Given the description of an element on the screen output the (x, y) to click on. 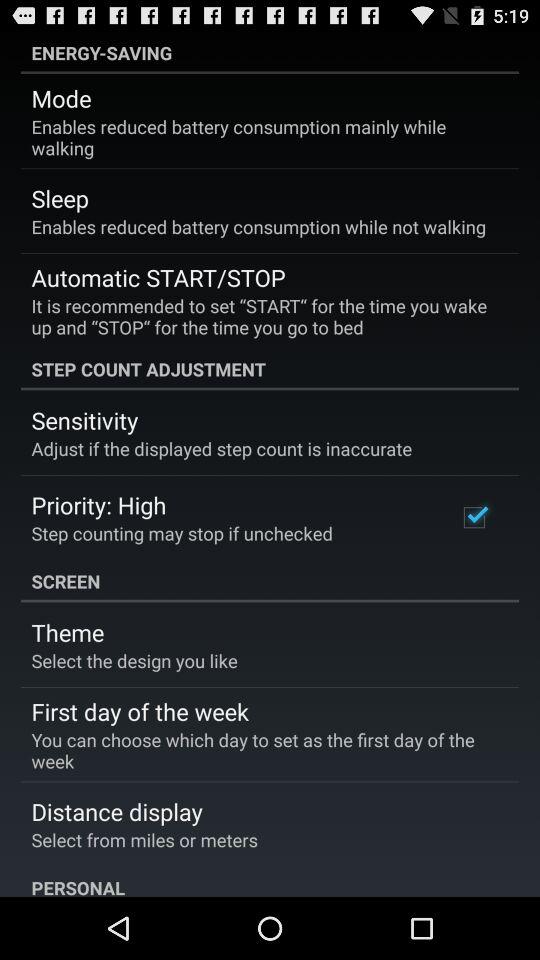
choose icon on the right (474, 517)
